Given the description of an element on the screen output the (x, y) to click on. 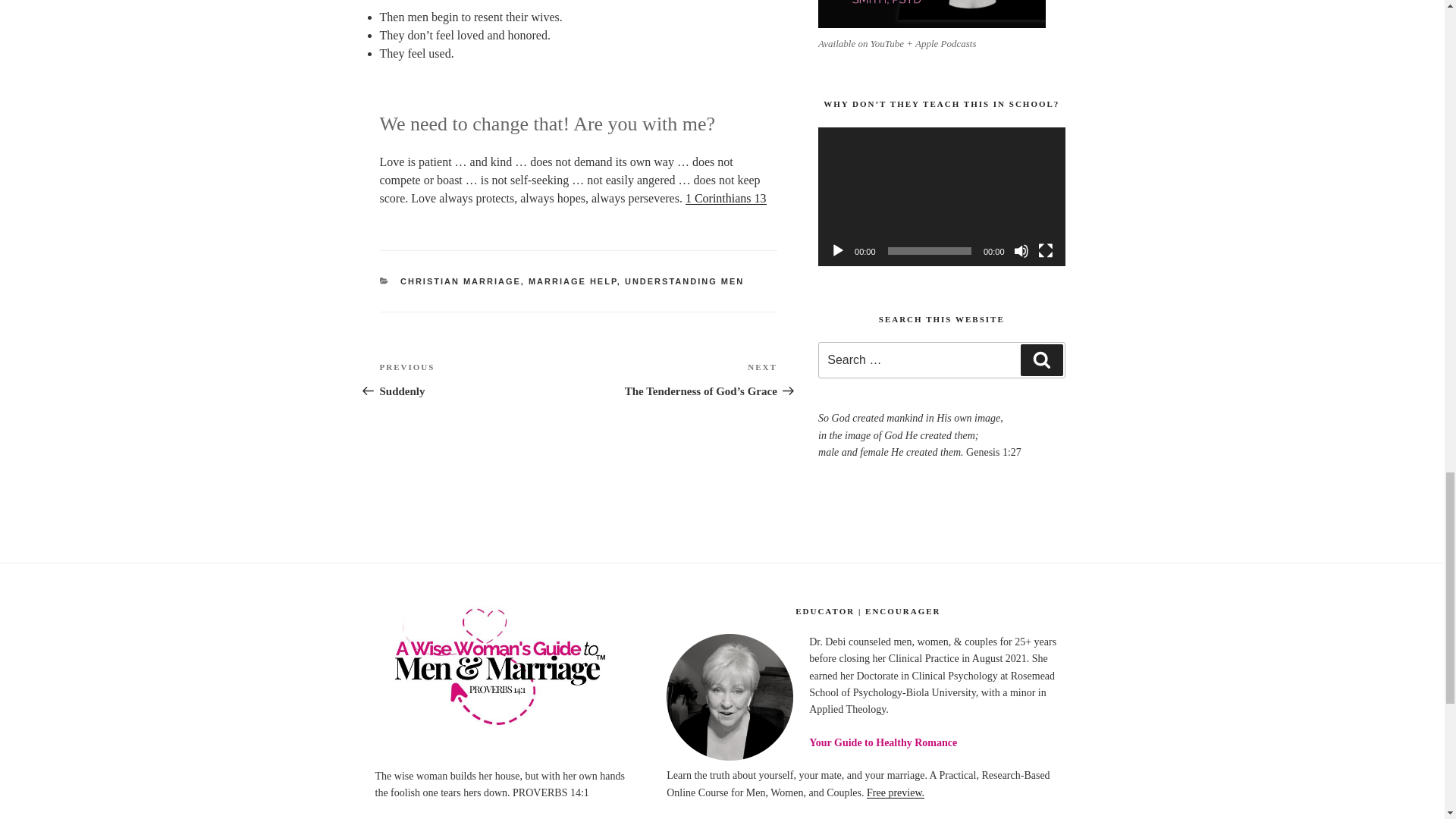
Mute (1020, 250)
CHRISTIAN MARRIAGE (460, 280)
Search (478, 379)
1 Corinthians 13 (1041, 359)
Play (726, 197)
Dr. Debi, Founder of A Wise Woman's Guide (837, 250)
Listen on Apple Podcasts (499, 668)
UNDERSTANDING MEN (931, 13)
MARRIAGE HELP (684, 280)
